Given the description of an element on the screen output the (x, y) to click on. 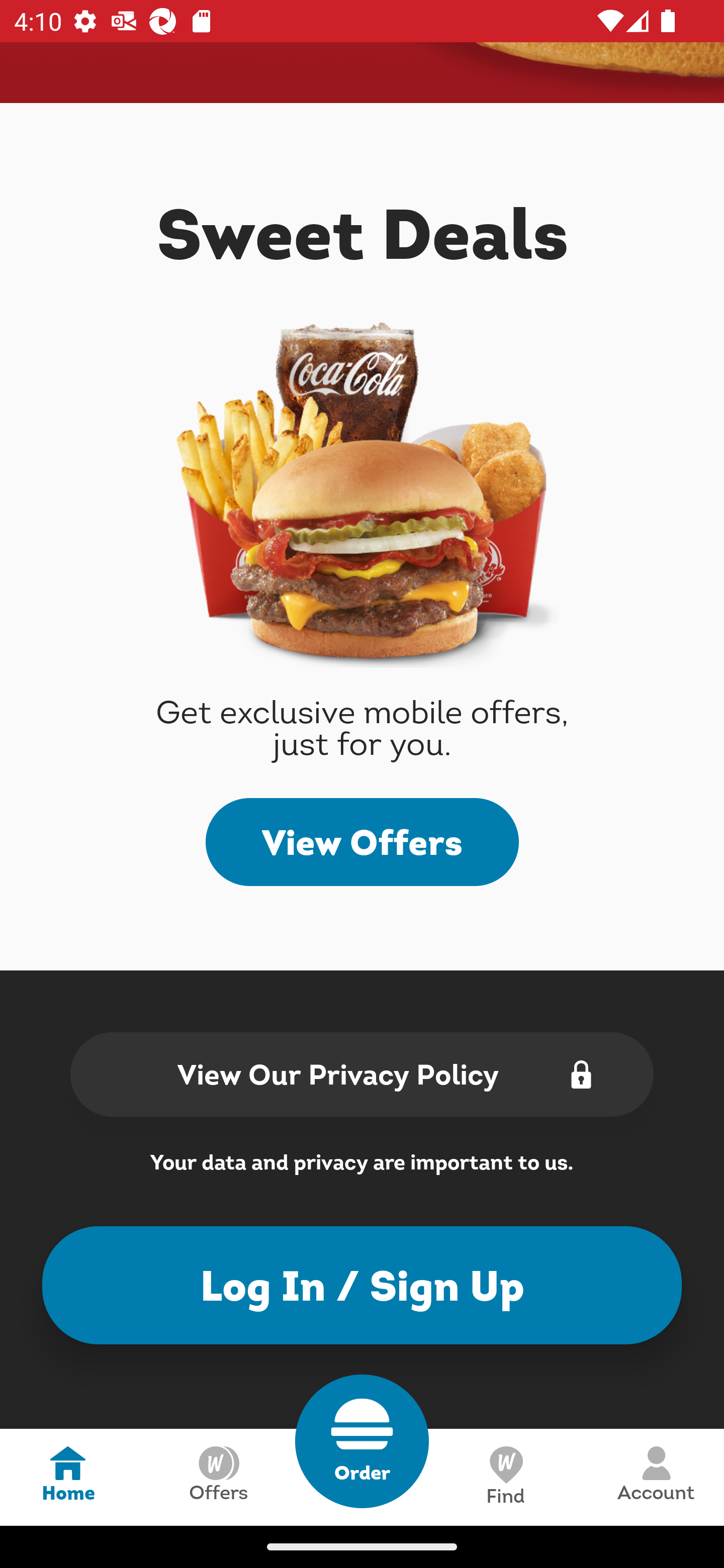
View Offers (362, 841)
View Our Privacy Policy (361, 1073)
Log In / Sign Up (361, 1284)
Order,3 of 5 Order (361, 1441)
Home,1 of 5 Home (68, 1476)
Rewards,2 of 5 Offers Offers (218, 1476)
Scan,4 of 5 Find Find (505, 1476)
Account,5 of 5 Account (655, 1476)
